Given the description of an element on the screen output the (x, y) to click on. 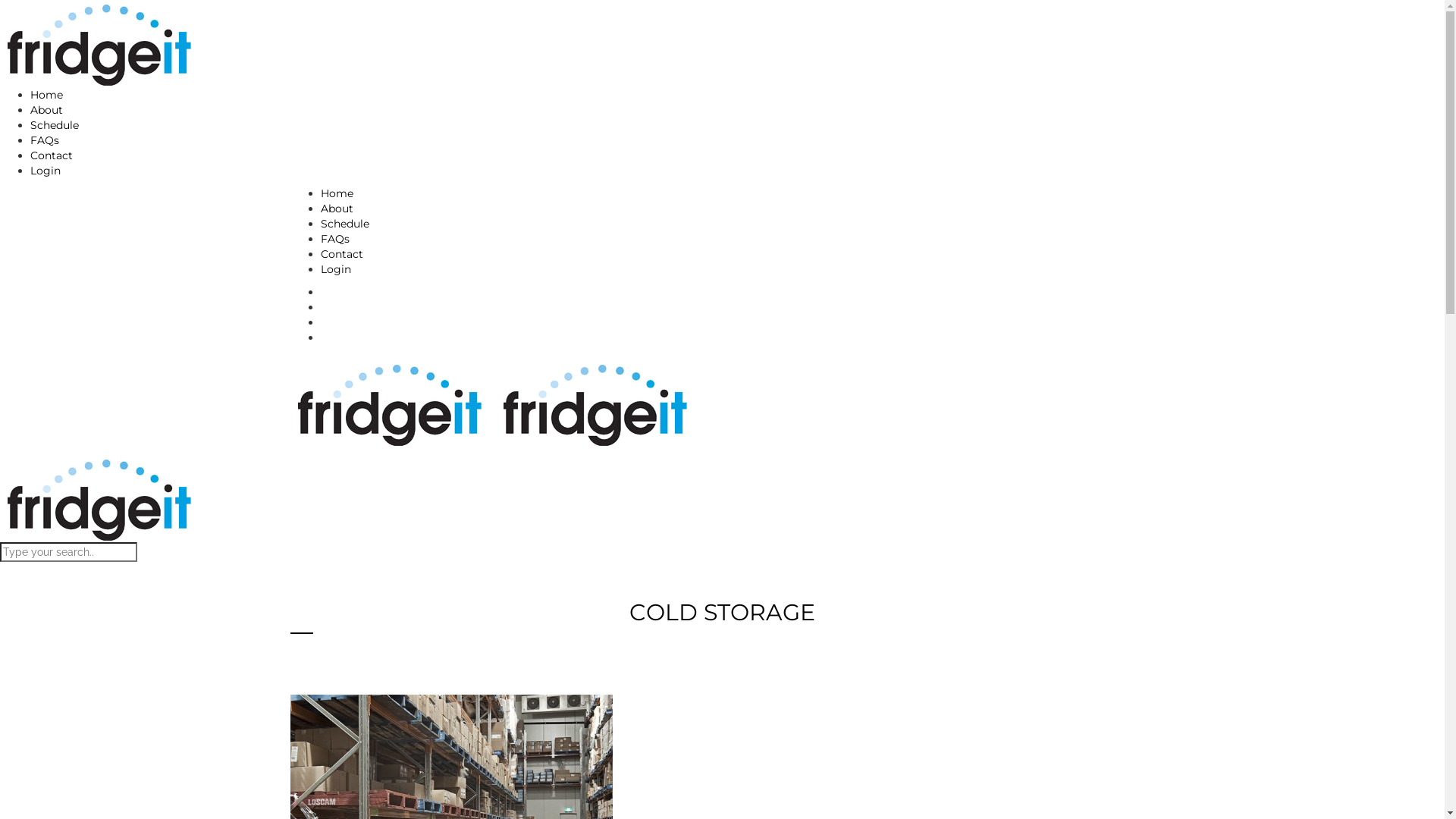
Schedule Element type: text (54, 124)
Login Element type: text (45, 170)
About Element type: text (46, 109)
Login Element type: text (335, 269)
Schedule Element type: text (344, 223)
FAQs Element type: text (334, 238)
About Element type: text (336, 208)
Home Element type: text (46, 94)
Contact Element type: text (341, 253)
Contact Element type: text (51, 155)
FAQs Element type: text (44, 140)
Home Element type: text (336, 193)
